Given the description of an element on the screen output the (x, y) to click on. 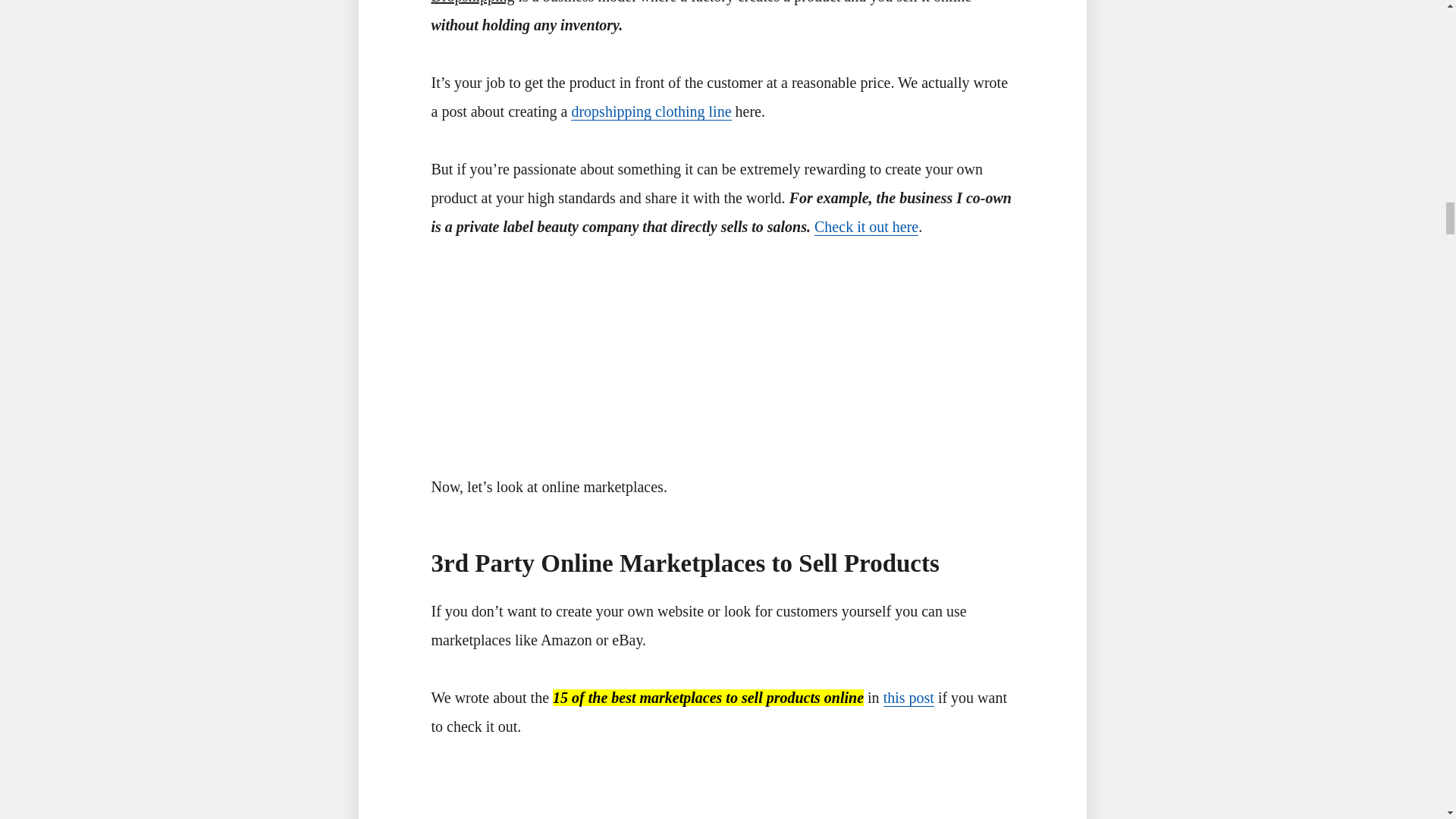
this post (908, 697)
dropshipping clothing line (650, 111)
Check it out here (865, 226)
